Given the description of an element on the screen output the (x, y) to click on. 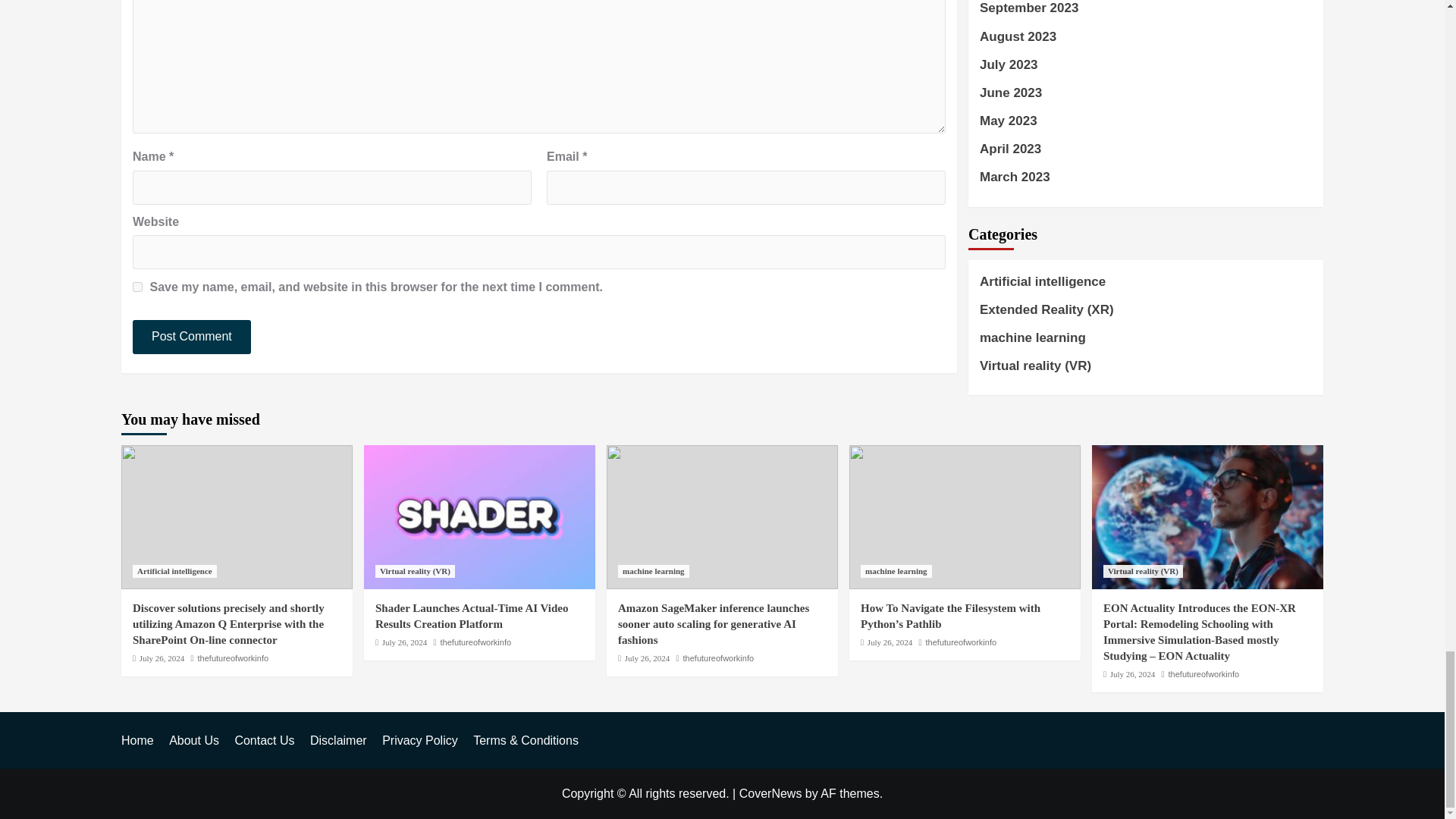
yes (137, 286)
Post Comment (191, 336)
